Given the description of an element on the screen output the (x, y) to click on. 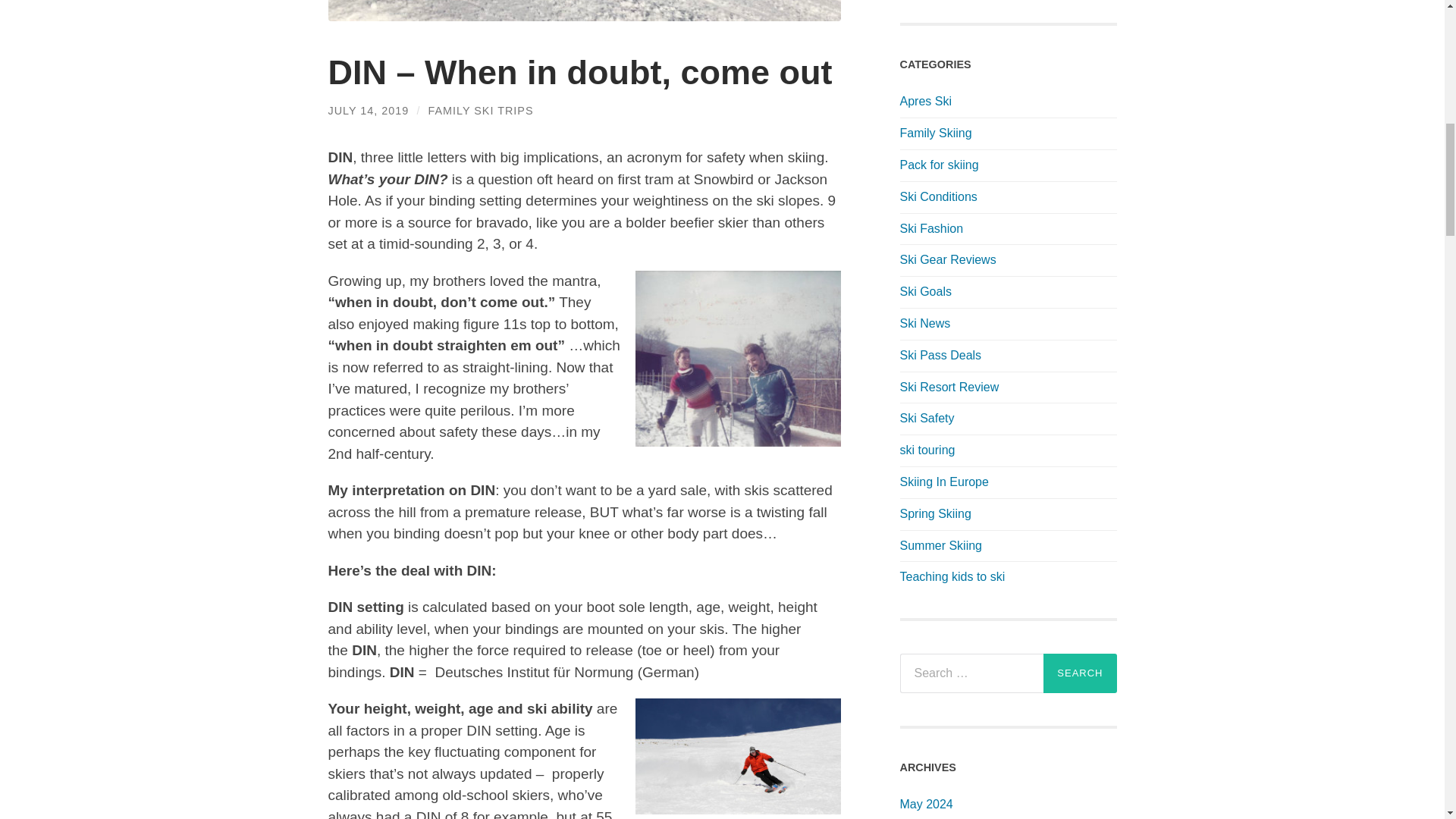
Search (1079, 672)
Posts by Family Ski Trips (480, 110)
JULY 14, 2019 (368, 110)
FAMILY SKI TRIPS (480, 110)
Search (1079, 672)
